Given the description of an element on the screen output the (x, y) to click on. 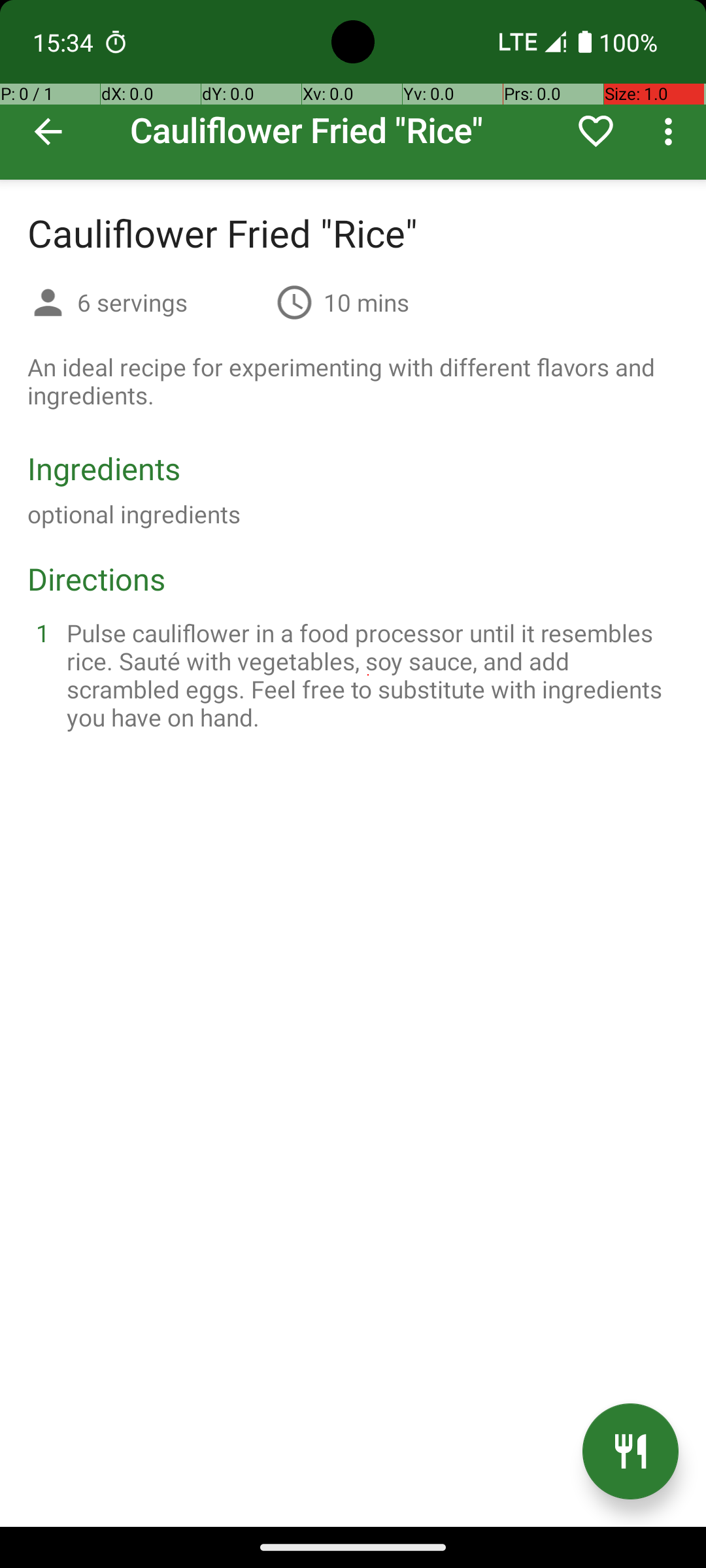
Pulse cauliflower in a food processor until it resembles rice. Sauté with vegetables, soy sauce, and add scrambled eggs. Feel free to substitute with ingredients you have on hand. Element type: android.widget.TextView (368, 674)
